Given the description of an element on the screen output the (x, y) to click on. 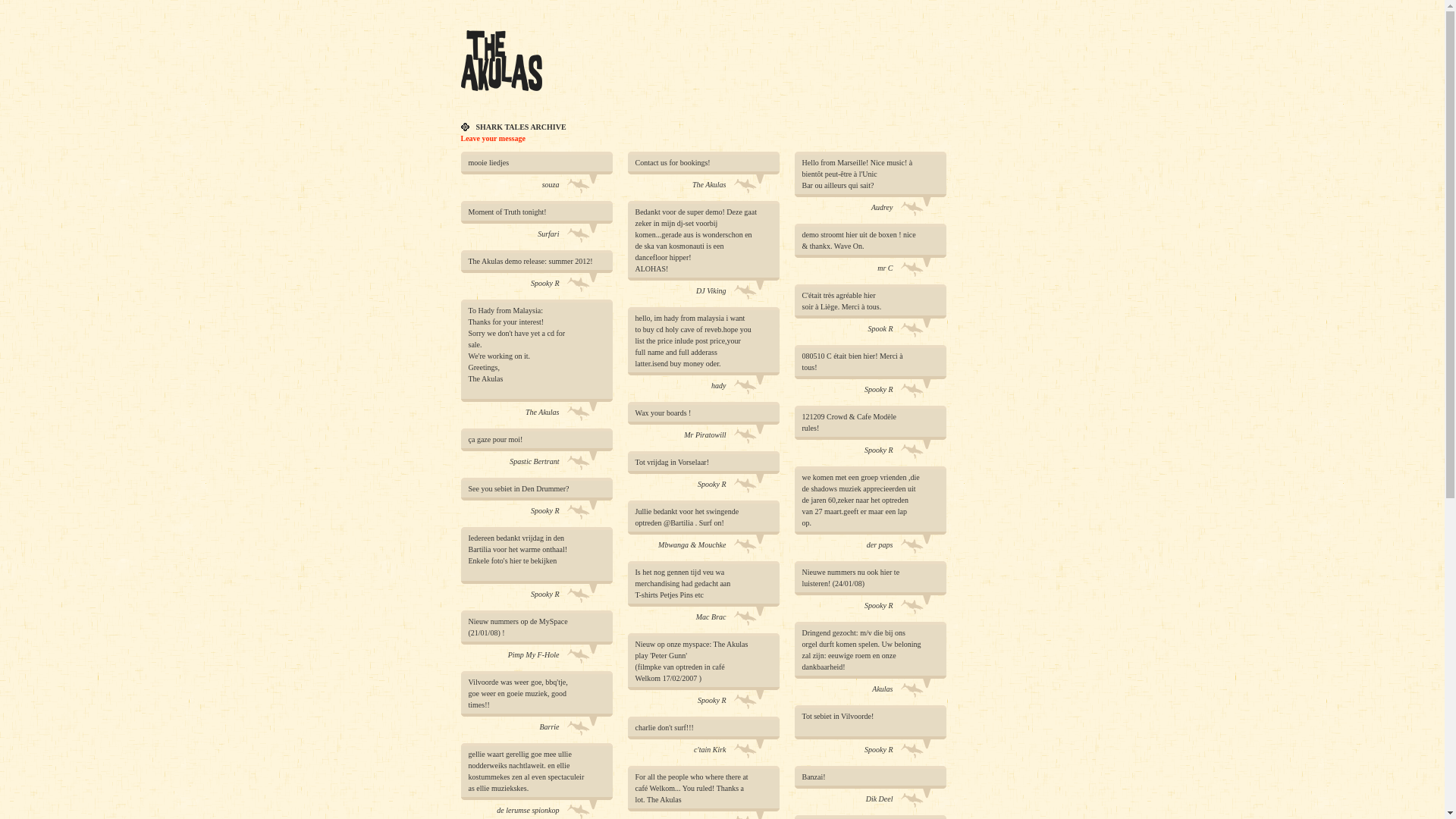
Leave your message Element type: text (493, 138)
